Given the description of an element on the screen output the (x, y) to click on. 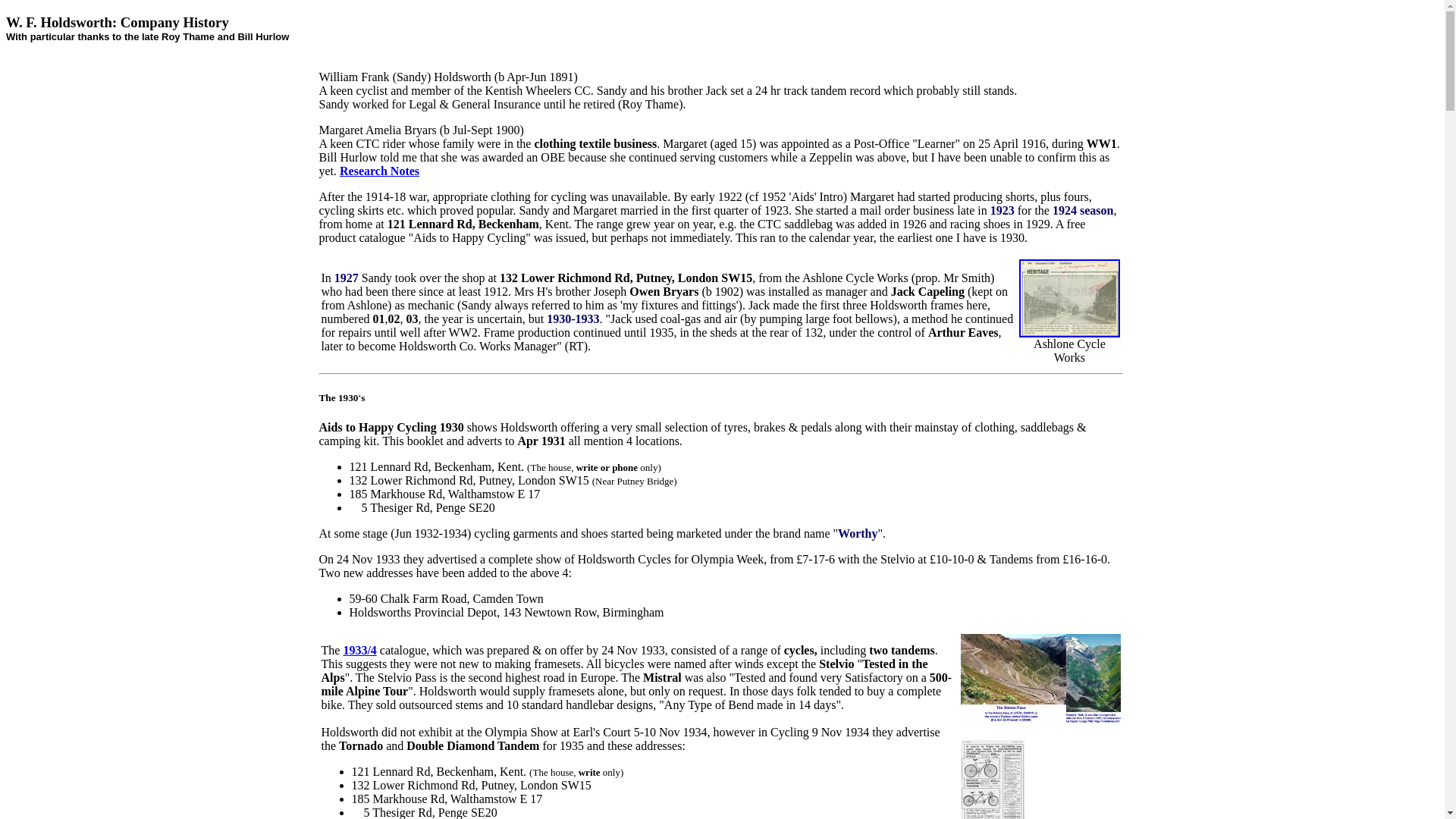
Research Notes (379, 170)
